Given the description of an element on the screen output the (x, y) to click on. 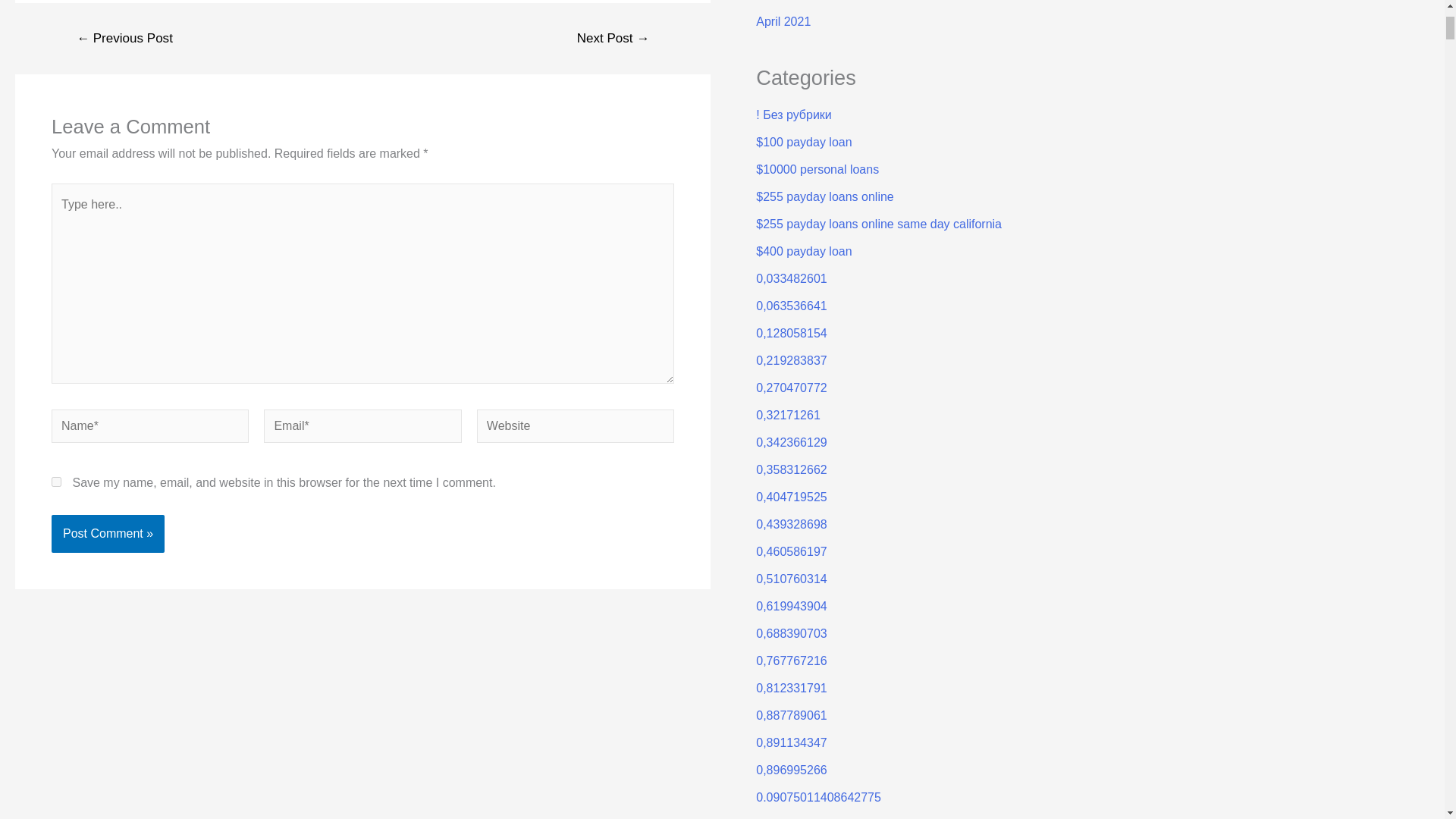
yes (55, 481)
